Given the description of an element on the screen output the (x, y) to click on. 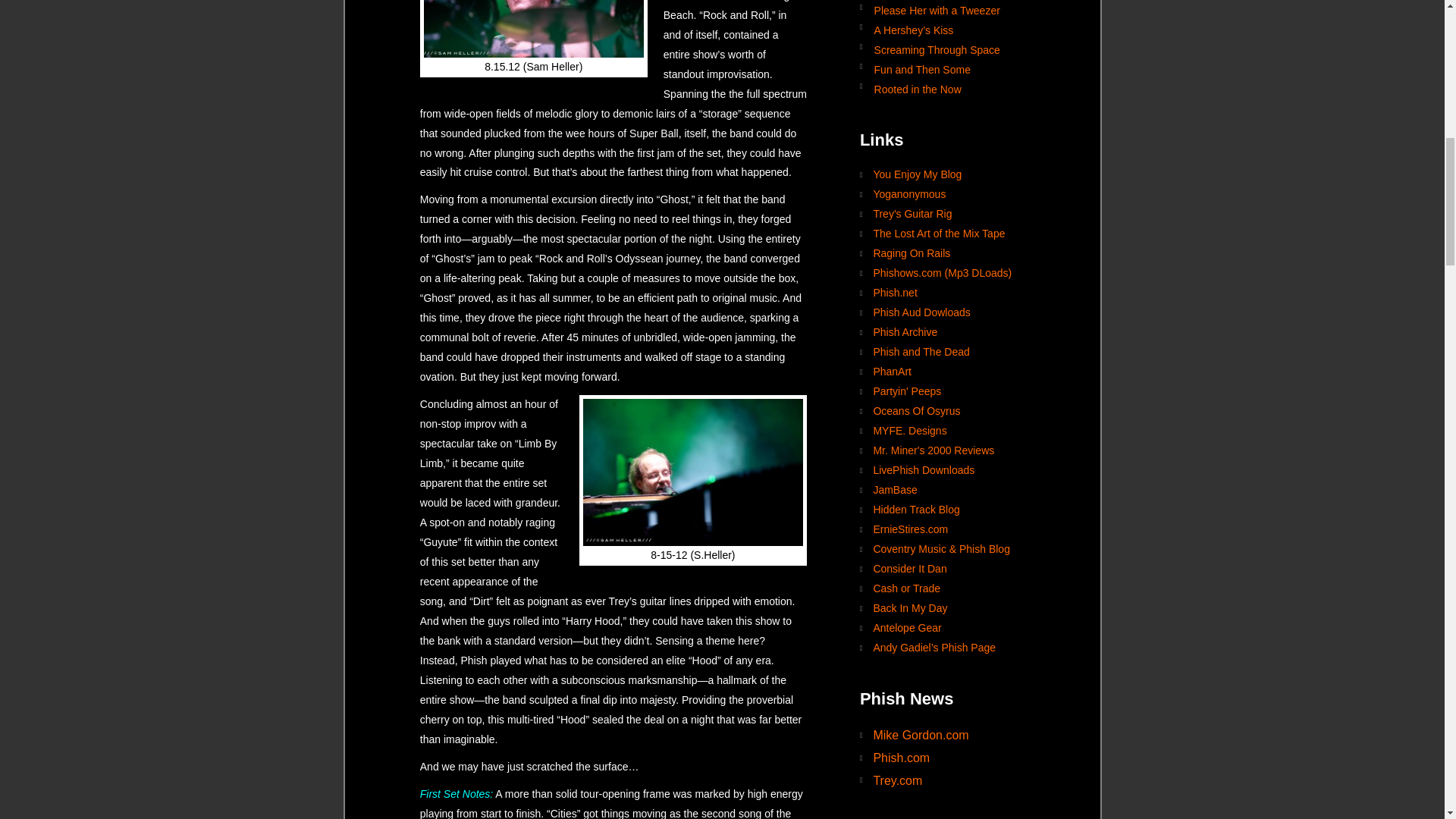
JamBase (956, 490)
MYFE. Designs (956, 431)
Mr. Miner's 2000 Reviews (956, 451)
Phish and The Dead (956, 352)
Phish Archive (956, 332)
Fun and Then Some (956, 68)
You Enjoy My Blog (956, 175)
LivePhish Downloads (956, 470)
Phish.net (956, 293)
Hidden Track Blog (956, 510)
